Given the description of an element on the screen output the (x, y) to click on. 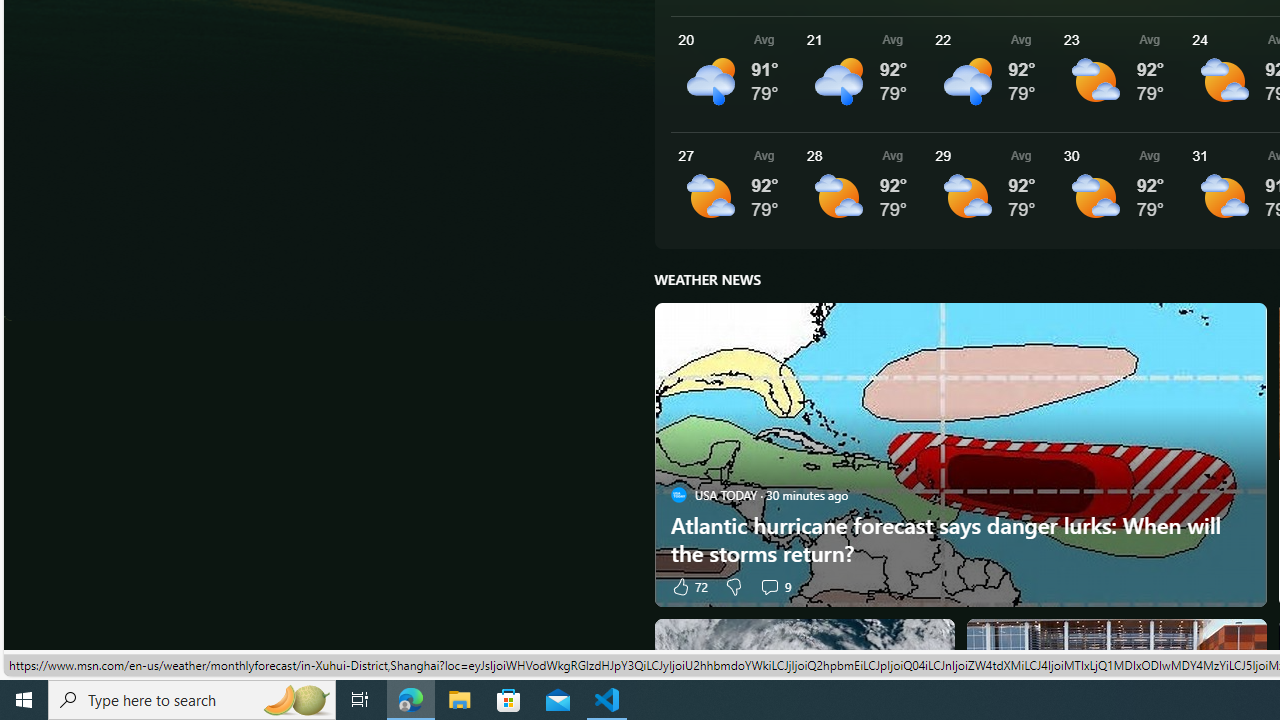
View comments 9 Comment (774, 586)
72 Like (688, 586)
See More Details (1120, 190)
Dislike (733, 586)
